Given the description of an element on the screen output the (x, y) to click on. 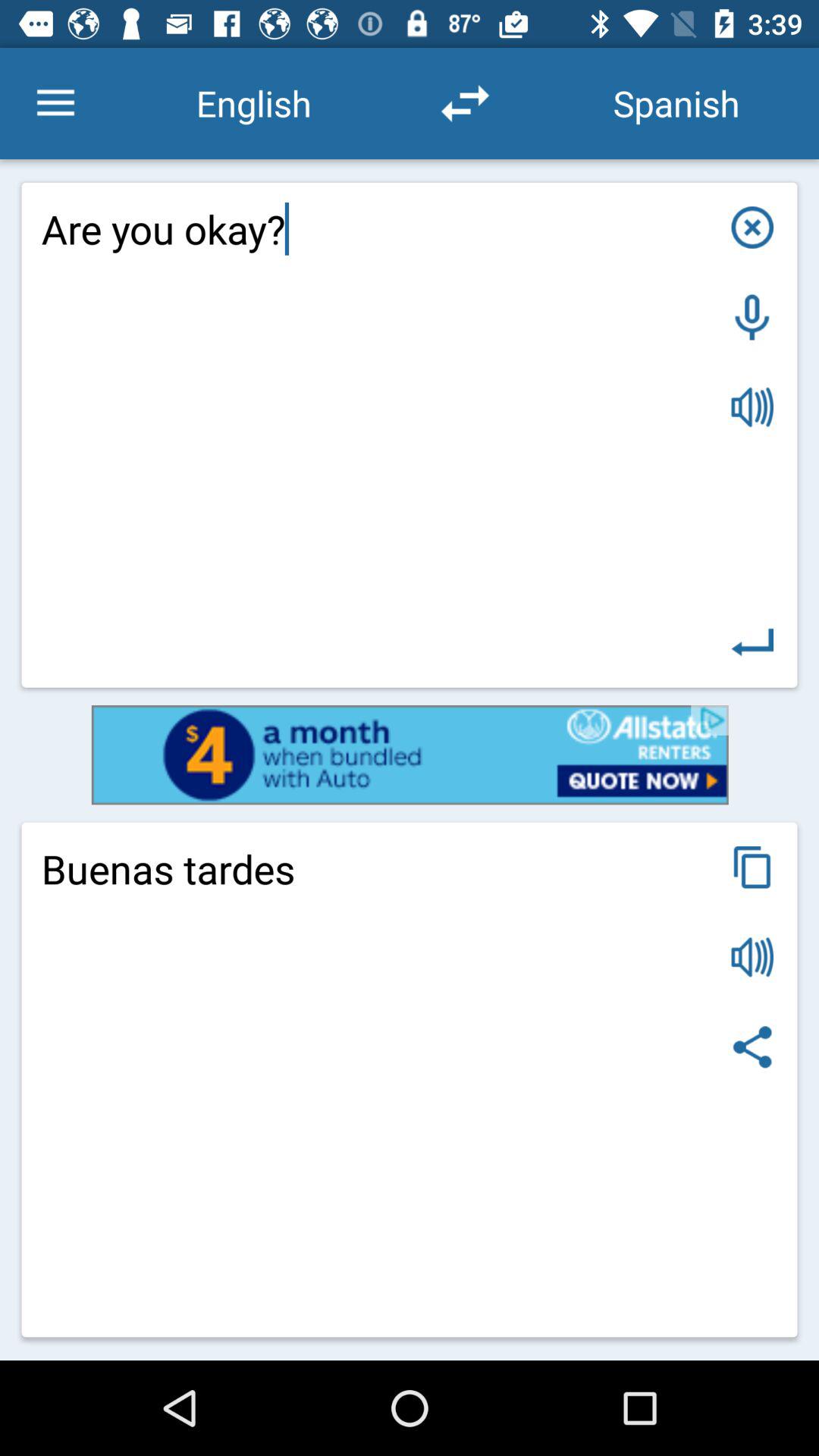
swap button (465, 103)
